Given the description of an element on the screen output the (x, y) to click on. 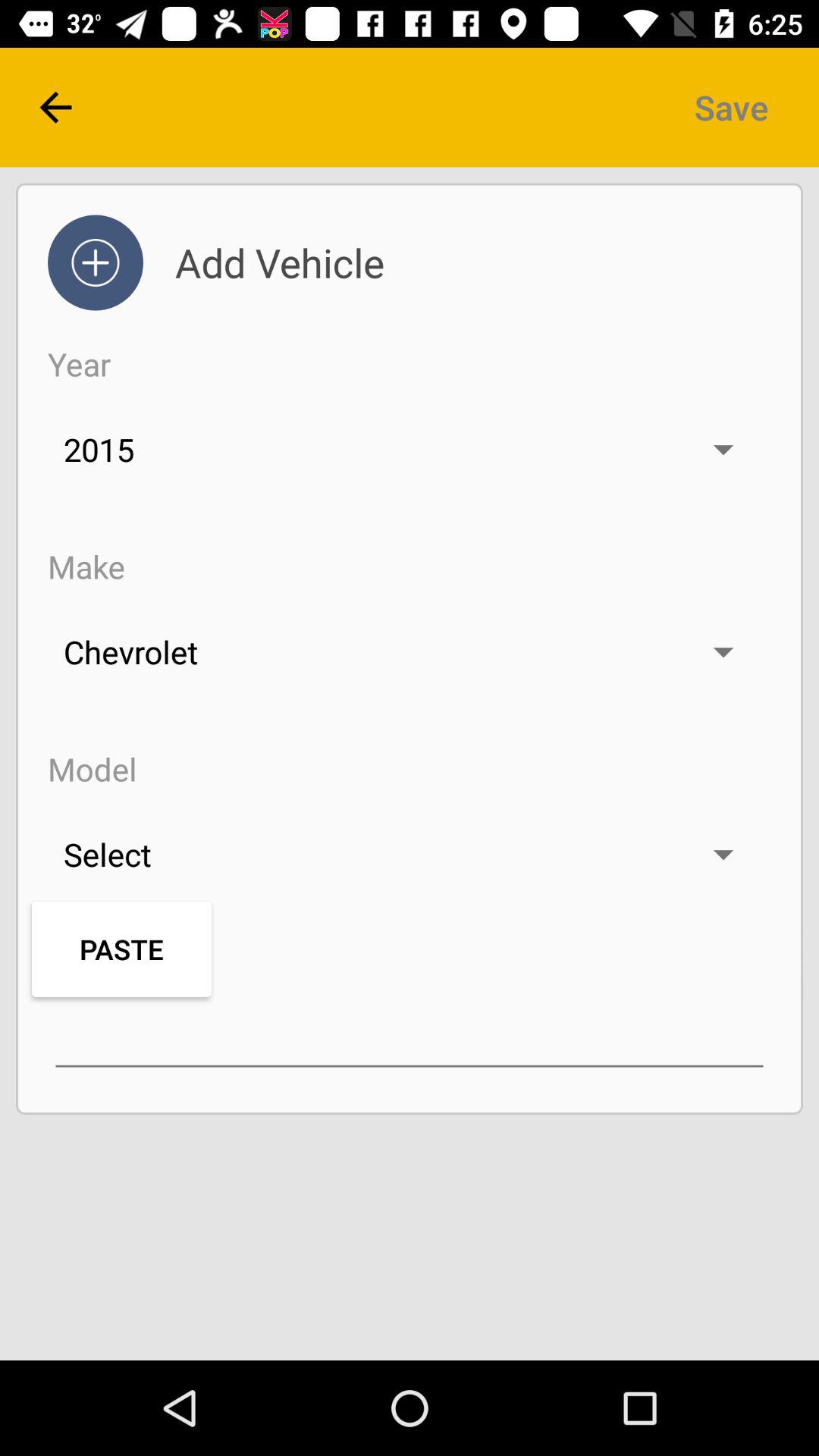
select option save on page (731, 107)
click on 2015 which is below the text year (409, 449)
click on add more icon which is on the left side of add vehicle (95, 263)
